Given the description of an element on the screen output the (x, y) to click on. 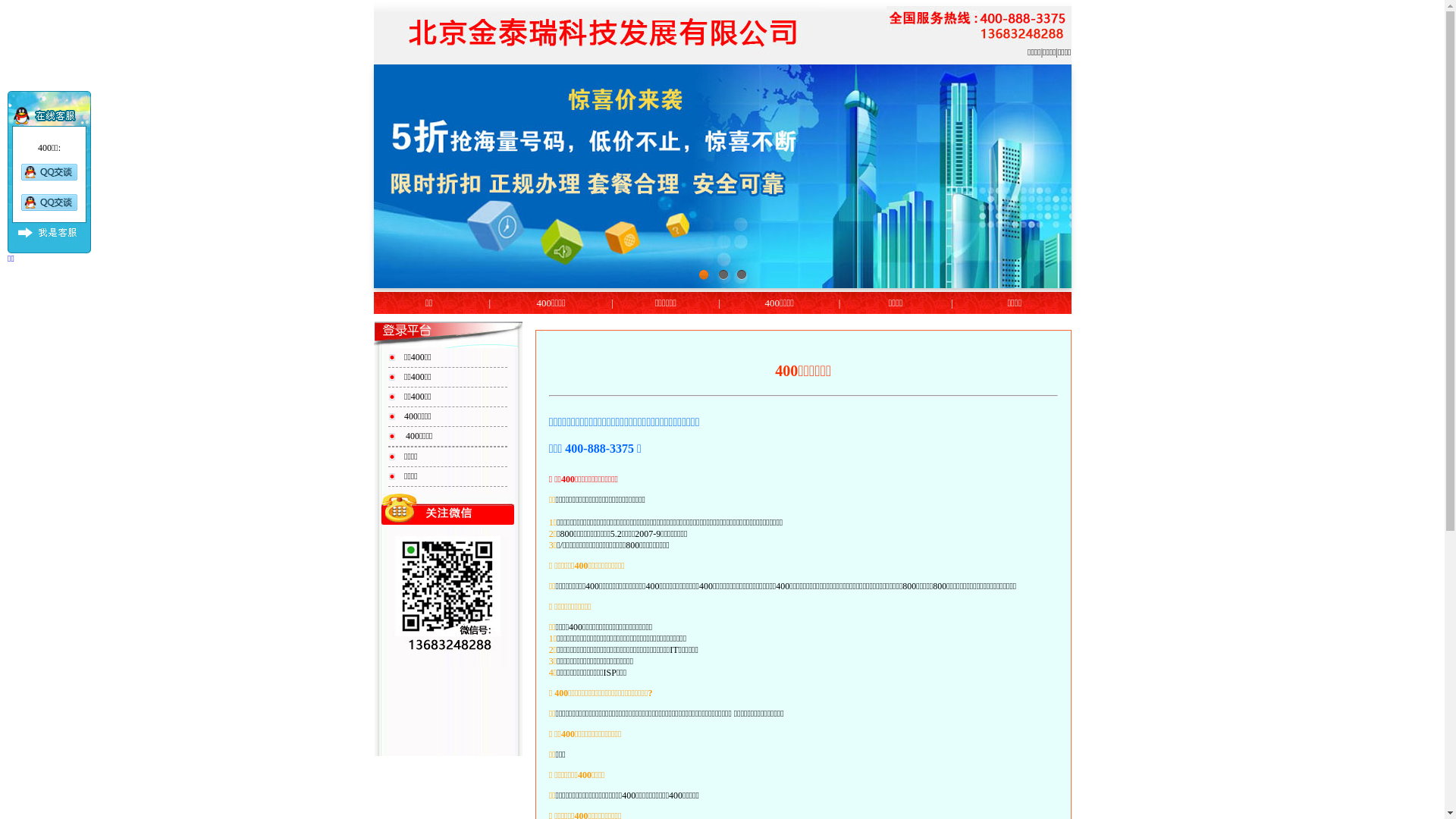
2 Element type: text (722, 274)
1 Element type: text (704, 274)
3 Element type: text (740, 274)
